Given the description of an element on the screen output the (x, y) to click on. 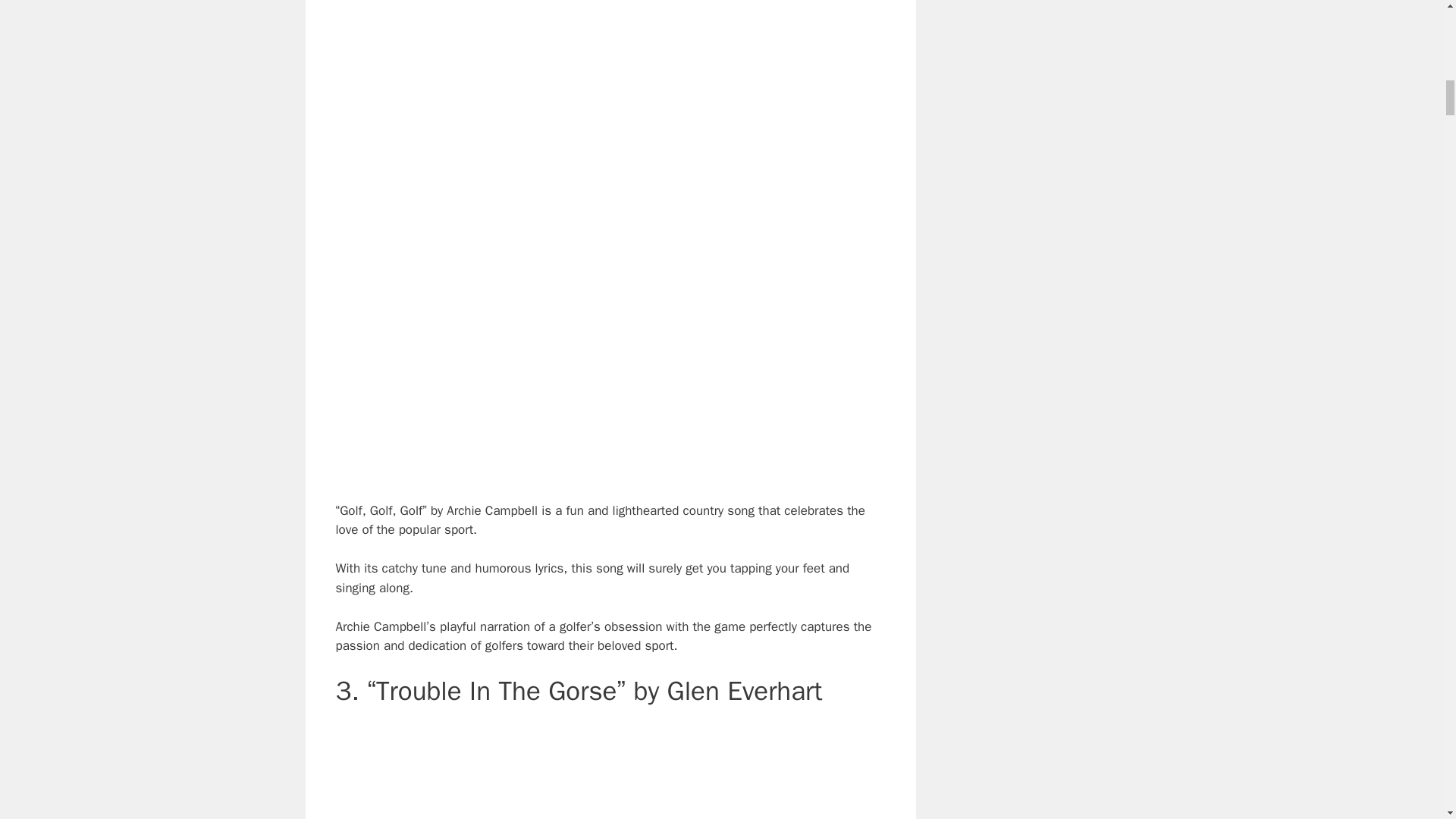
Trouble In The Gorse (609, 770)
